Given the description of an element on the screen output the (x, y) to click on. 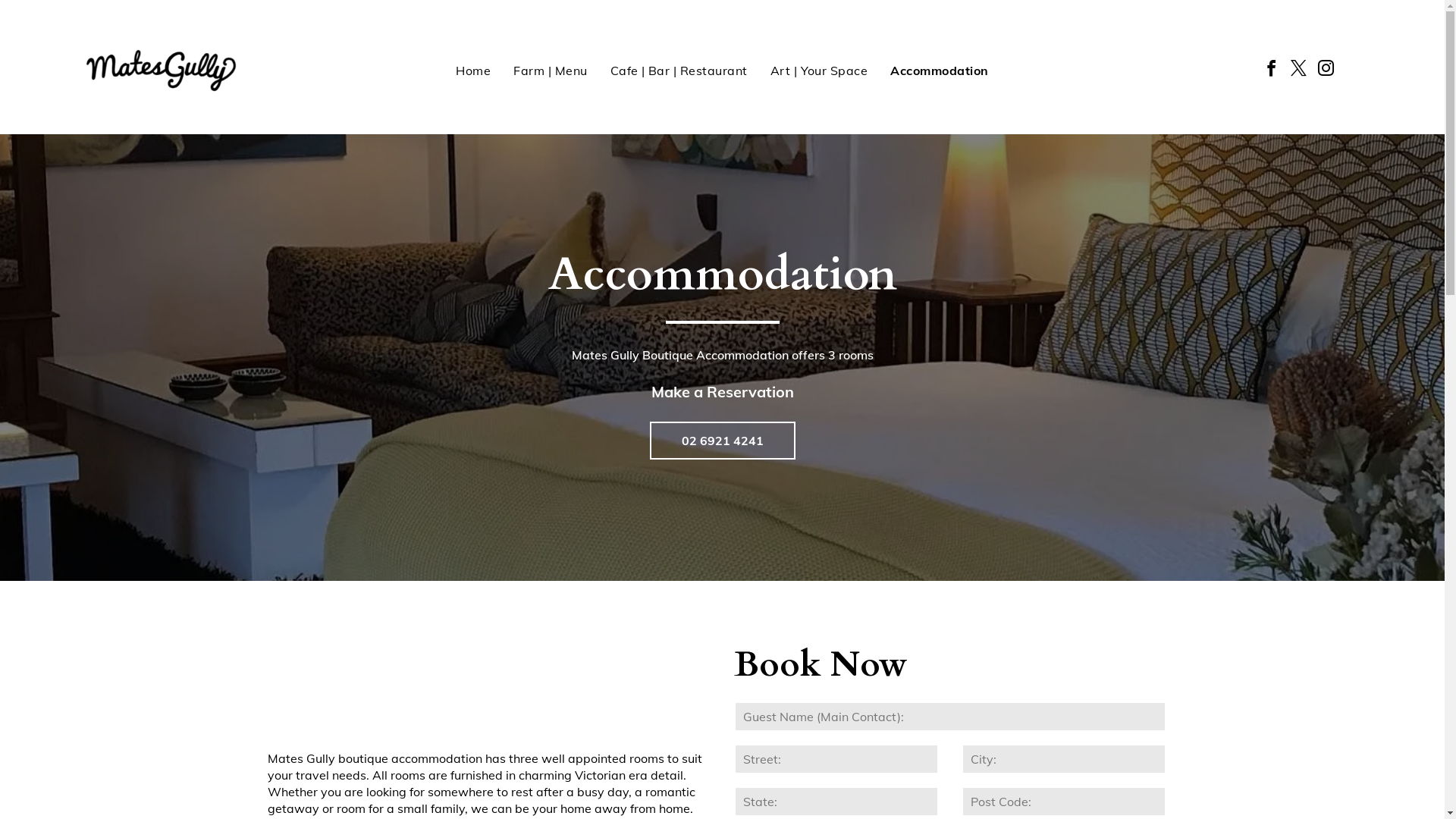
Cafe | Bar | Restaurant Element type: text (679, 70)
Art | Your Space Element type: text (819, 70)
Farm | Menu Element type: text (550, 70)
02 6921 4241 Element type: text (721, 440)
Home Element type: text (473, 70)
Accommodation Element type: text (938, 70)
